Given the description of an element on the screen output the (x, y) to click on. 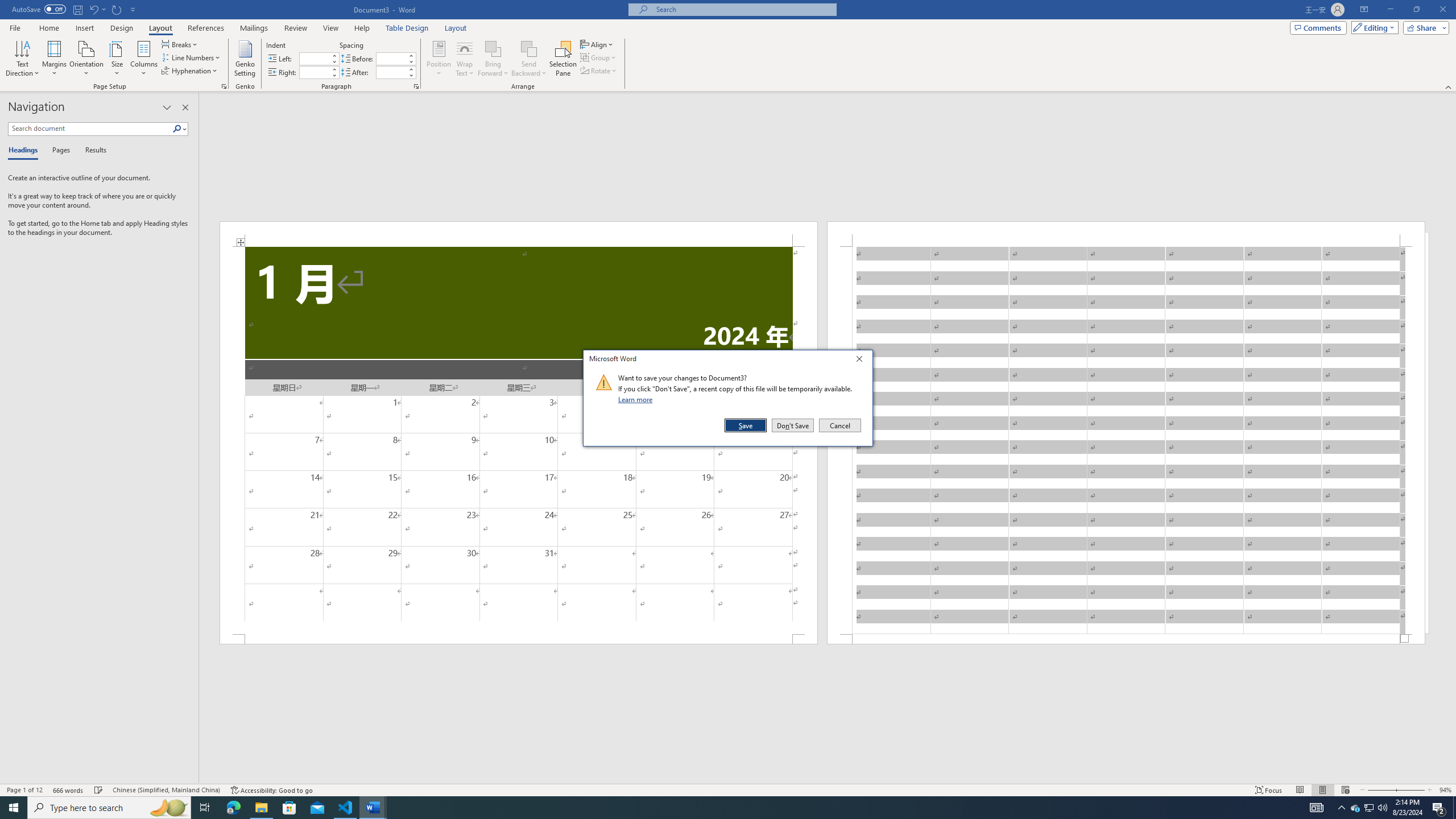
Bring Forward (492, 48)
Columns (143, 58)
Size (116, 58)
Indent Left (314, 58)
Indent Right (314, 72)
Wrap Text (464, 58)
